Given the description of an element on the screen output the (x, y) to click on. 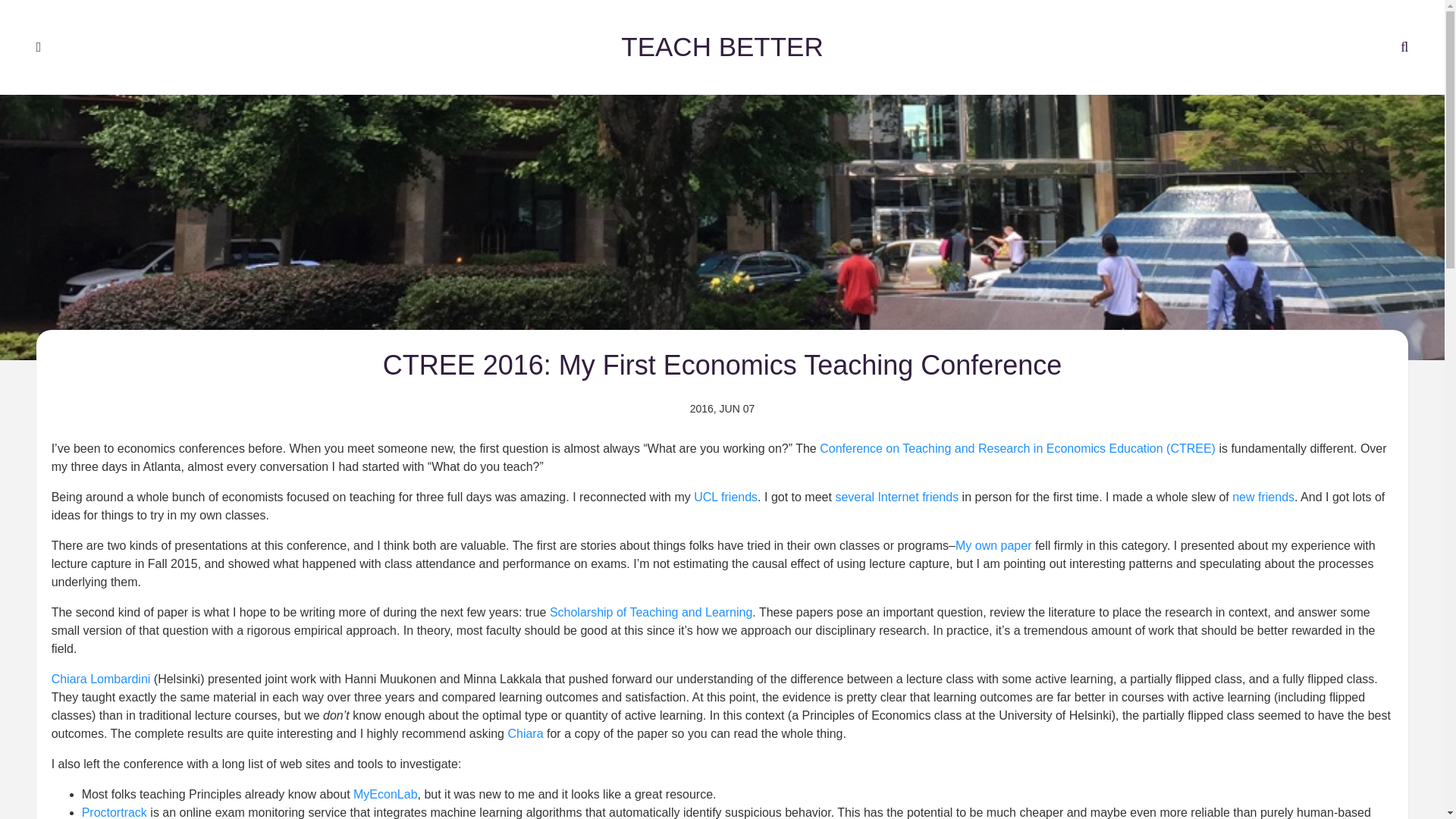
Chiara (524, 719)
Scholarship of Teaching and Learning (651, 596)
Chiara Lombardini (100, 664)
MyEconLab (385, 781)
Proctortrack (114, 802)
